Given the description of an element on the screen output the (x, y) to click on. 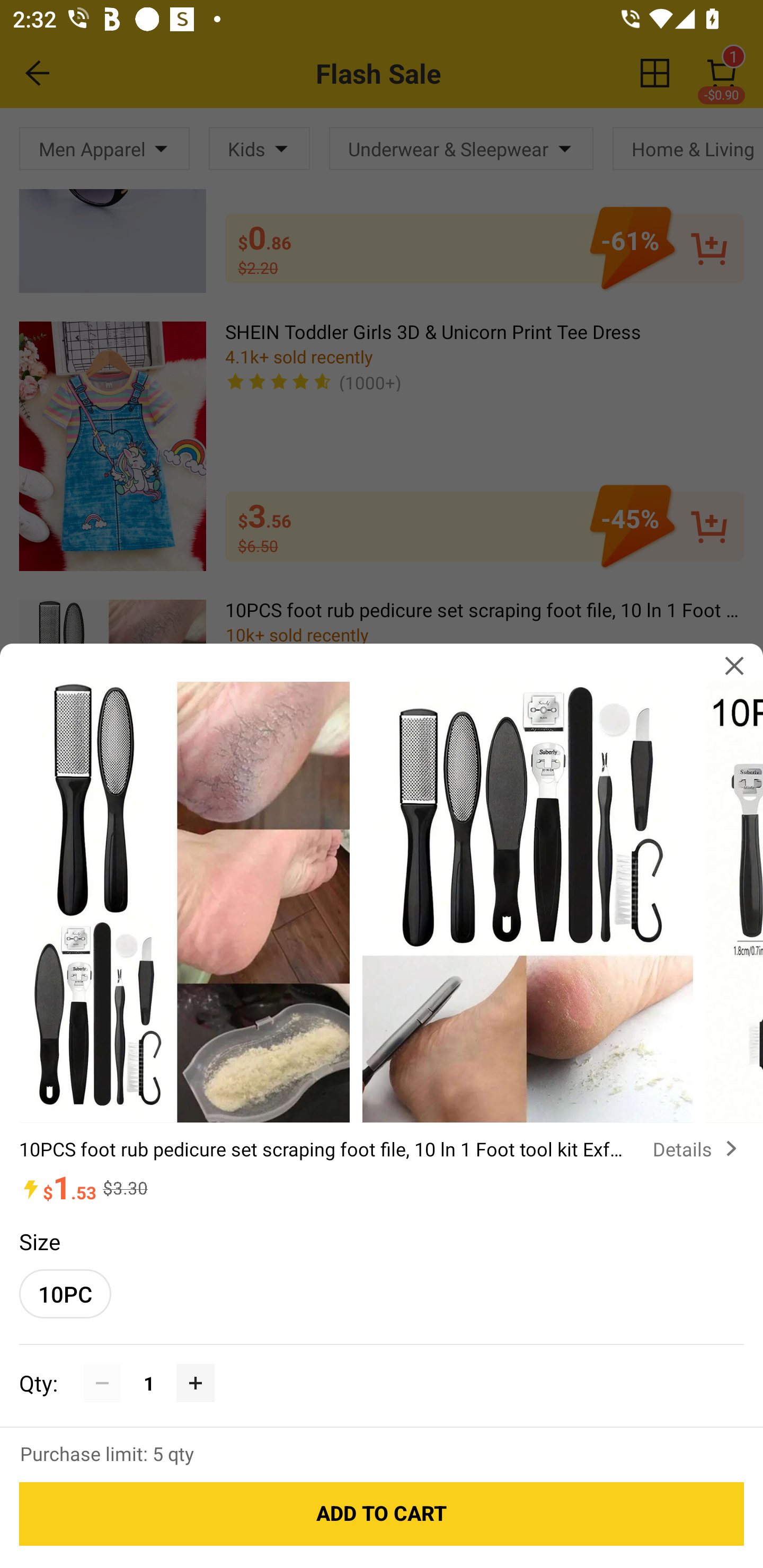
Details (698, 1148)
Size (39, 1240)
10PC 10PCunselected option (65, 1293)
ADD TO CART (381, 1513)
